Given the description of an element on the screen output the (x, y) to click on. 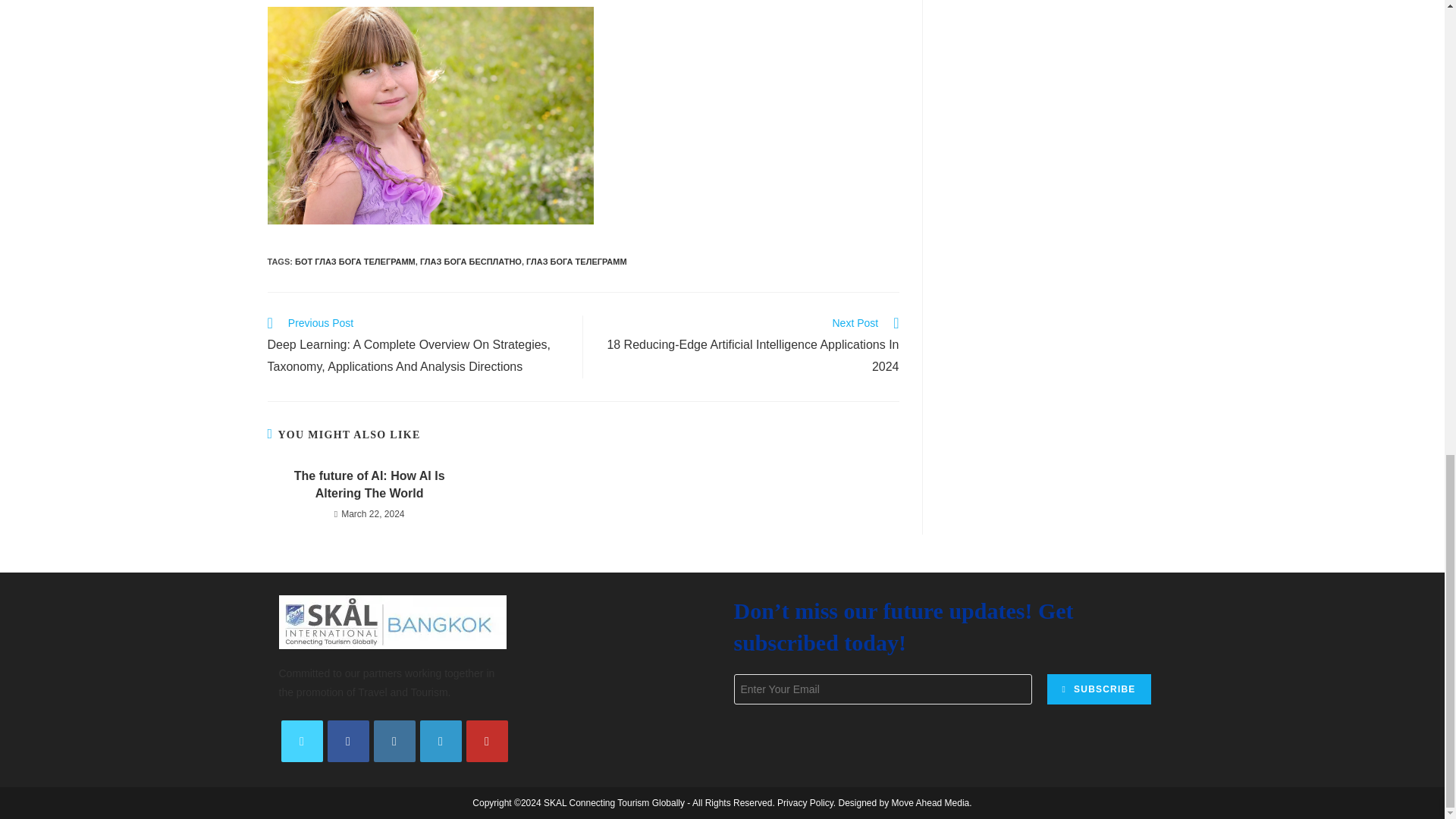
Move Ahead Media (930, 802)
Privacy Policy (804, 802)
SUBSCRIBE (1098, 689)
The future of AI: How AI Is Altering The World (368, 484)
